Given the description of an element on the screen output the (x, y) to click on. 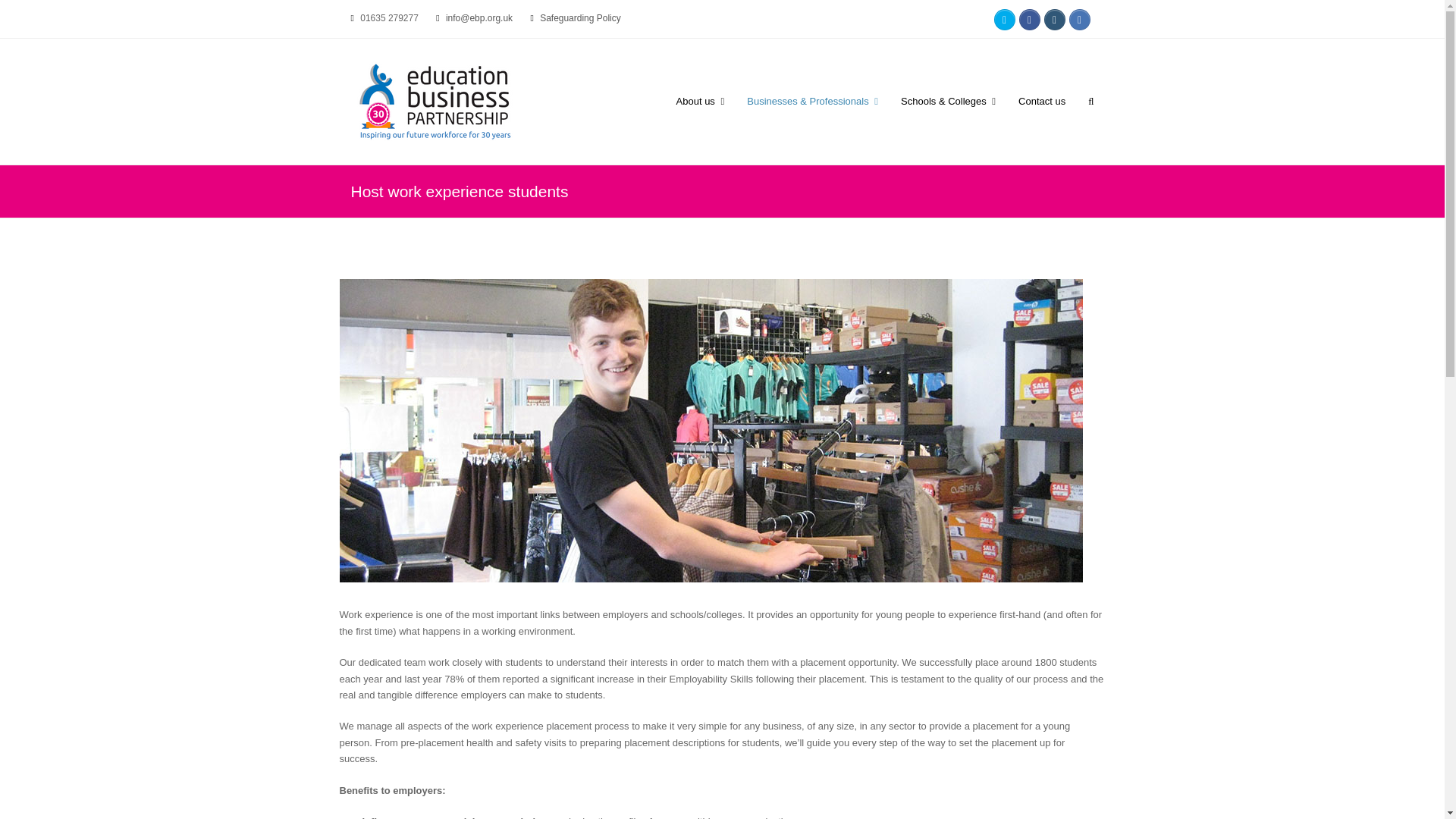
LinkedIn (1079, 19)
Instagram (1053, 19)
Instagram (1053, 19)
LinkedIn (1079, 19)
Twitter (1003, 19)
About us (700, 101)
Facebook (1030, 19)
Twitter (1003, 19)
Safeguarding Policy (580, 18)
Facebook (1030, 19)
